Given the description of an element on the screen output the (x, y) to click on. 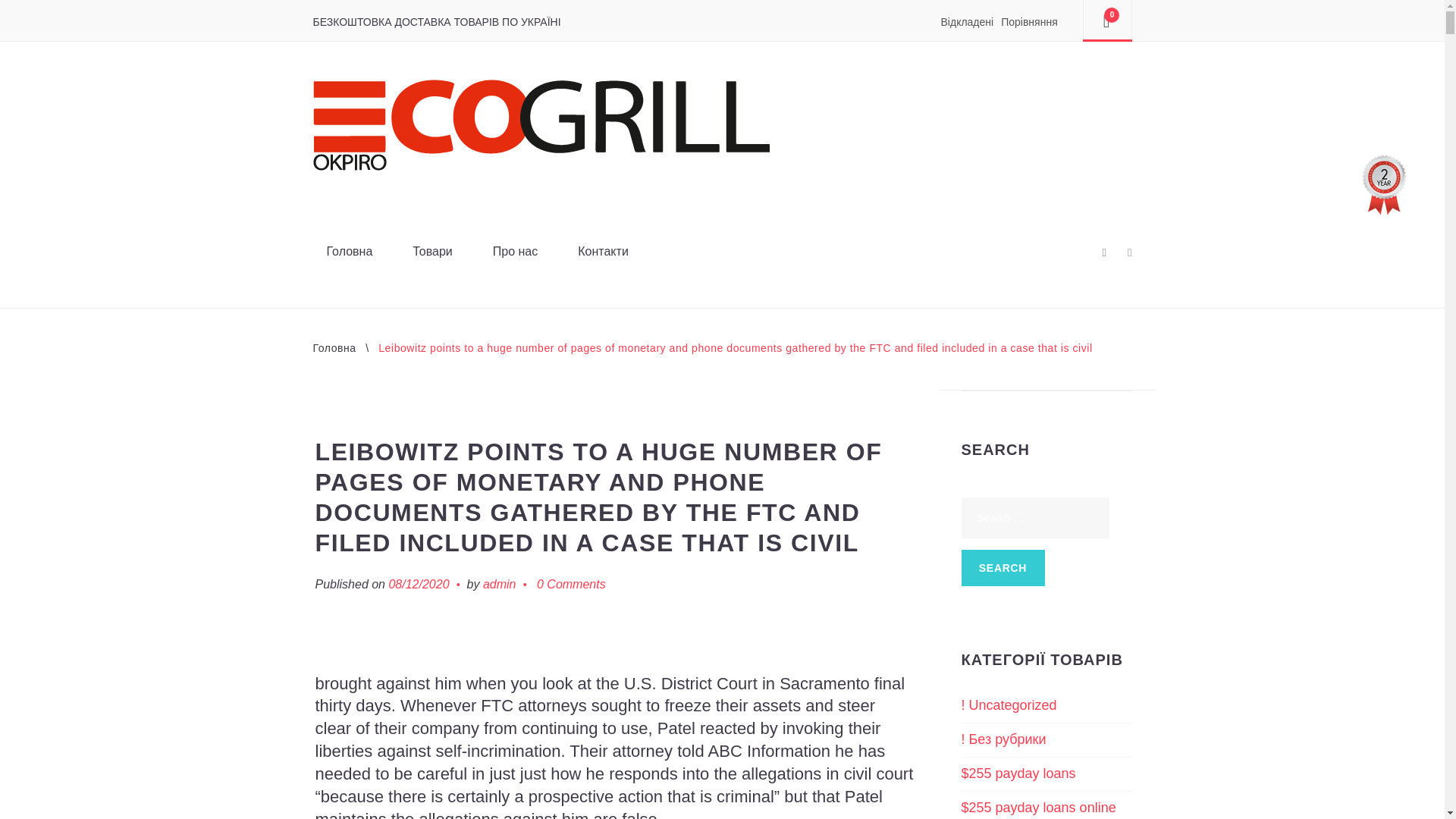
Search for: (1034, 517)
0 Comments (571, 584)
SEARCH (1002, 567)
admin (499, 584)
! Uncategorized (1008, 705)
